Given the description of an element on the screen output the (x, y) to click on. 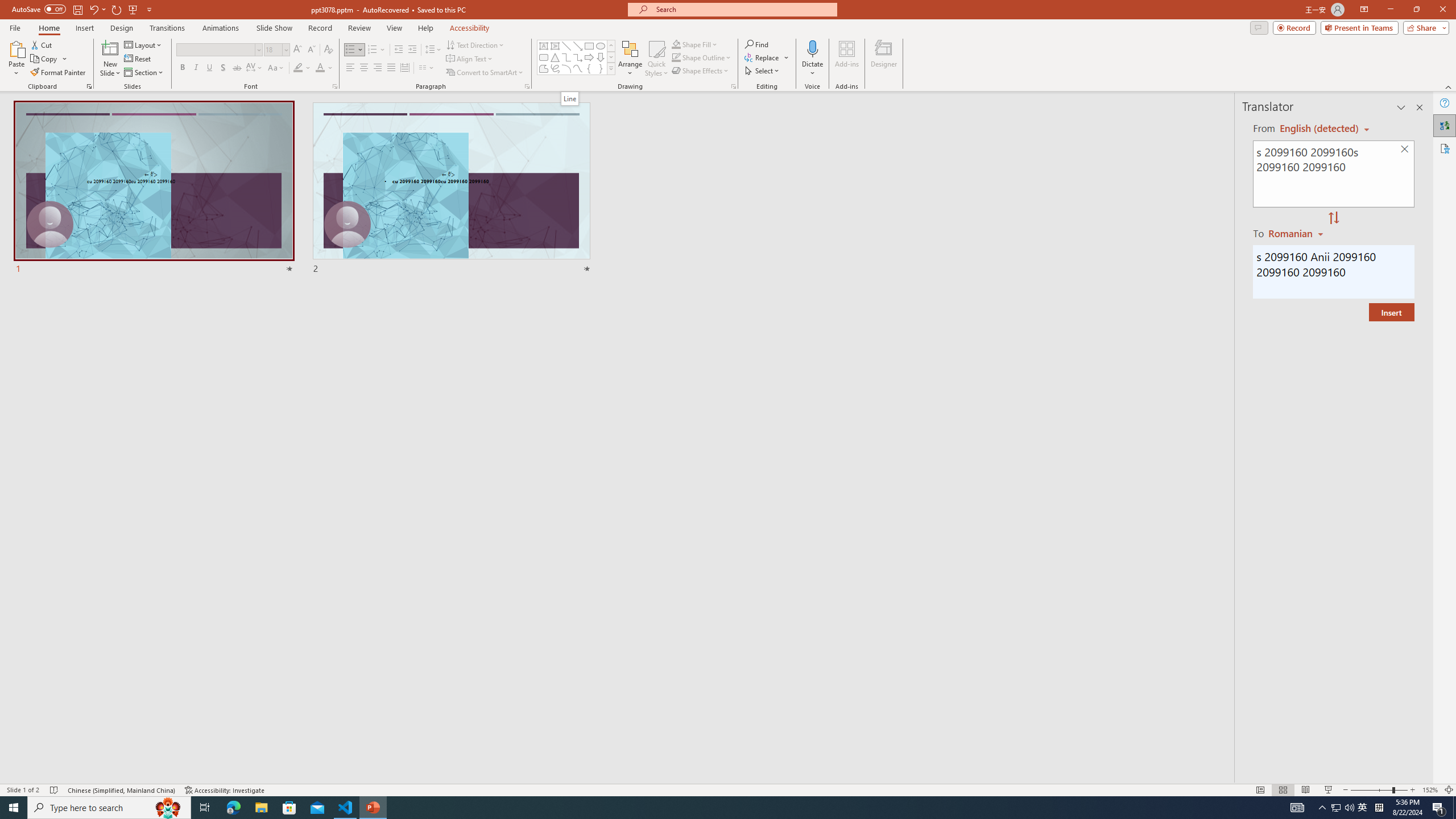
Distributed (404, 67)
Isosceles Triangle (554, 57)
Font Color Red (320, 67)
Shape Outline Green, Accent 1 (675, 56)
Align Right (377, 67)
Oval (600, 45)
Line (569, 98)
Freeform: Scribble (554, 68)
